Given the description of an element on the screen output the (x, y) to click on. 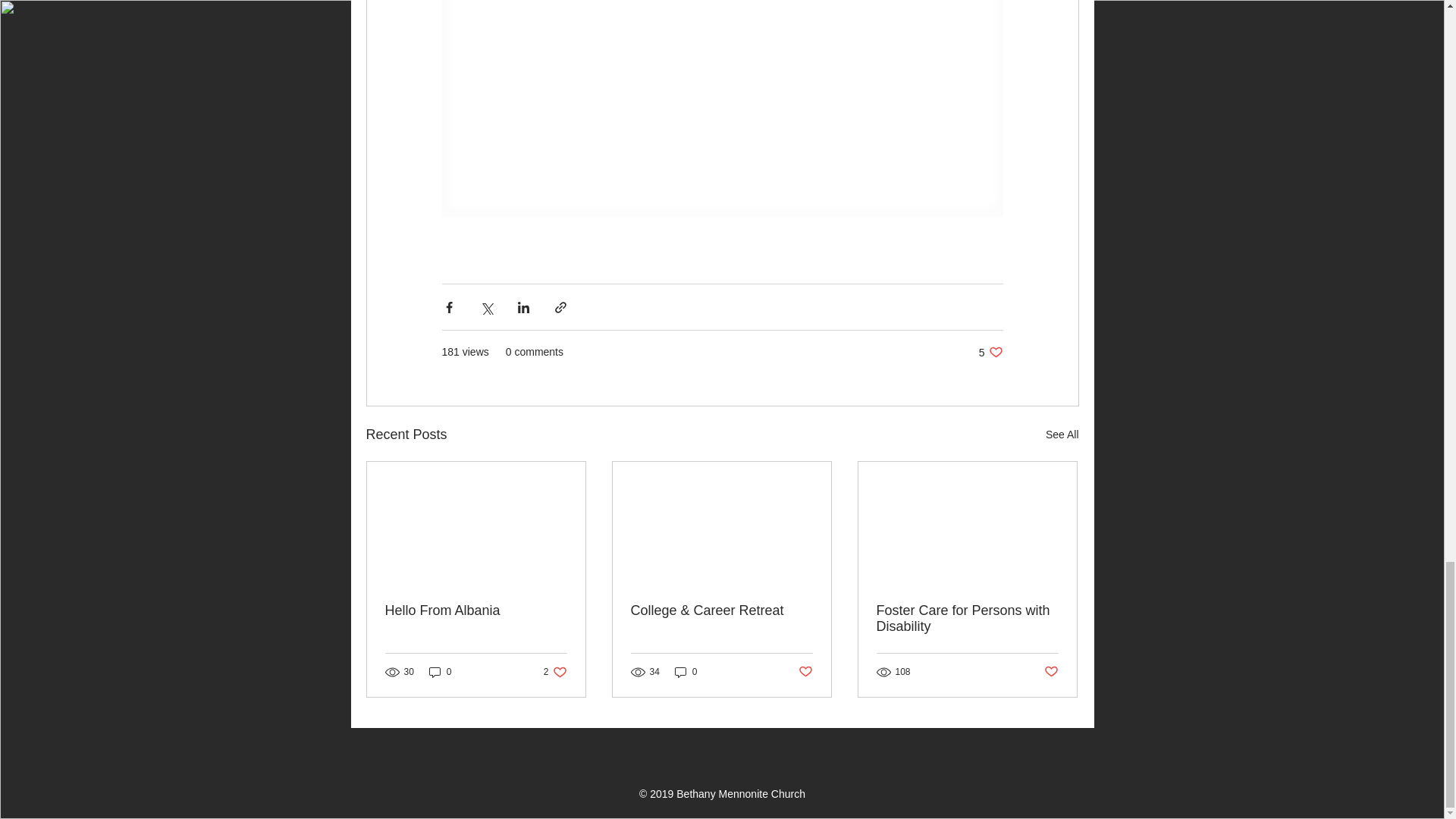
0 (440, 672)
Post not marked as liked (804, 671)
0 (555, 672)
Foster Care for Persons with Disability (685, 672)
Hello From Albania (967, 618)
See All (476, 610)
Post not marked as liked (990, 351)
